Given the description of an element on the screen output the (x, y) to click on. 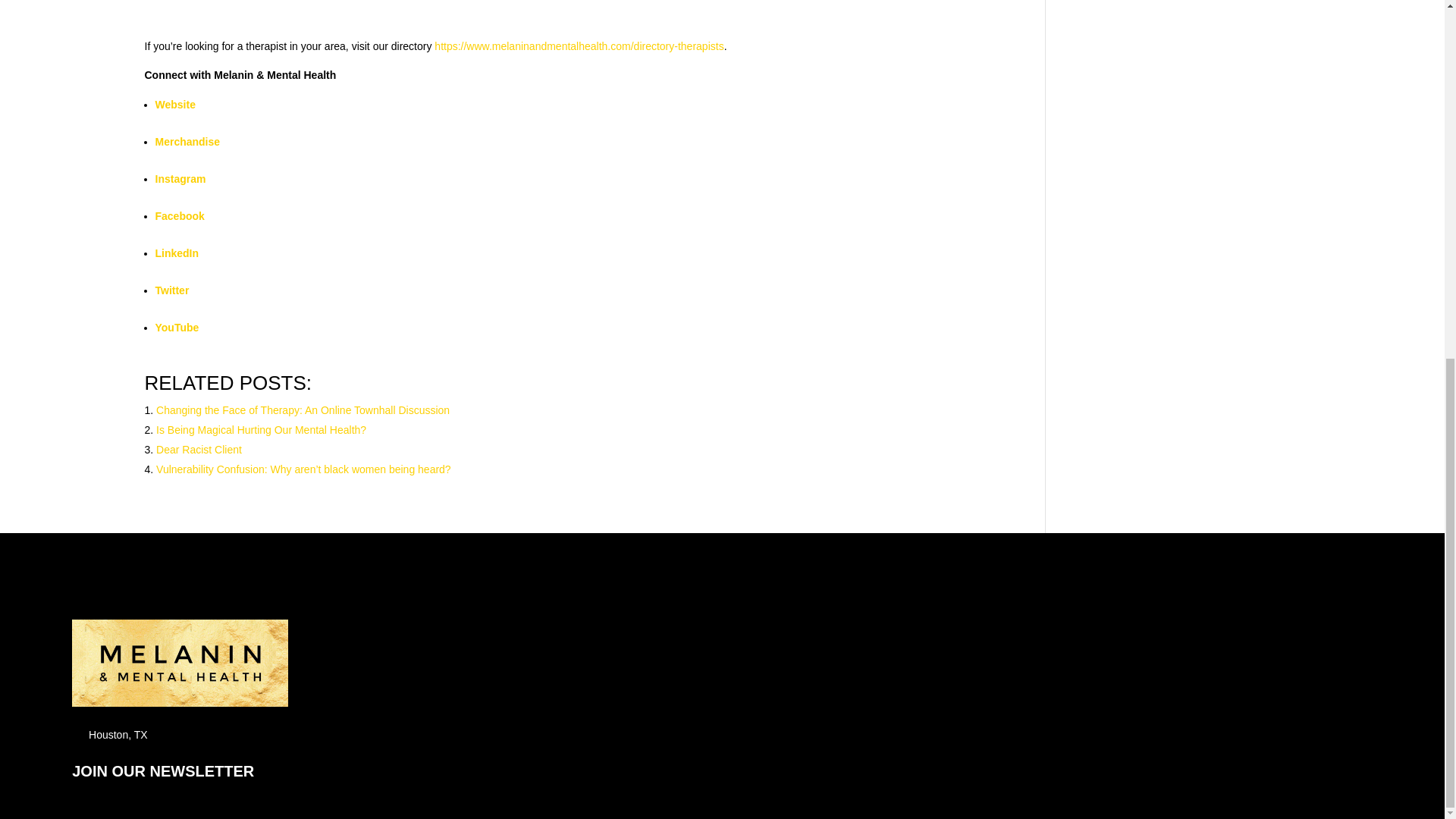
Changing the Face of Therapy: An Online Townhall Discussion (302, 410)
Is Being Magical Hurting Our Mental Health? (260, 429)
LinkedIn (176, 253)
Facebook (178, 215)
Changing the Face of Therapy: An Online Townhall Discussion (302, 410)
Instagram (179, 178)
Merchandise (186, 141)
Logo-gold-and-black-1024x412 (179, 662)
Is Being Magical Hurting Our Mental Health? (260, 429)
Dear Racist Client (198, 449)
